Given the description of an element on the screen output the (x, y) to click on. 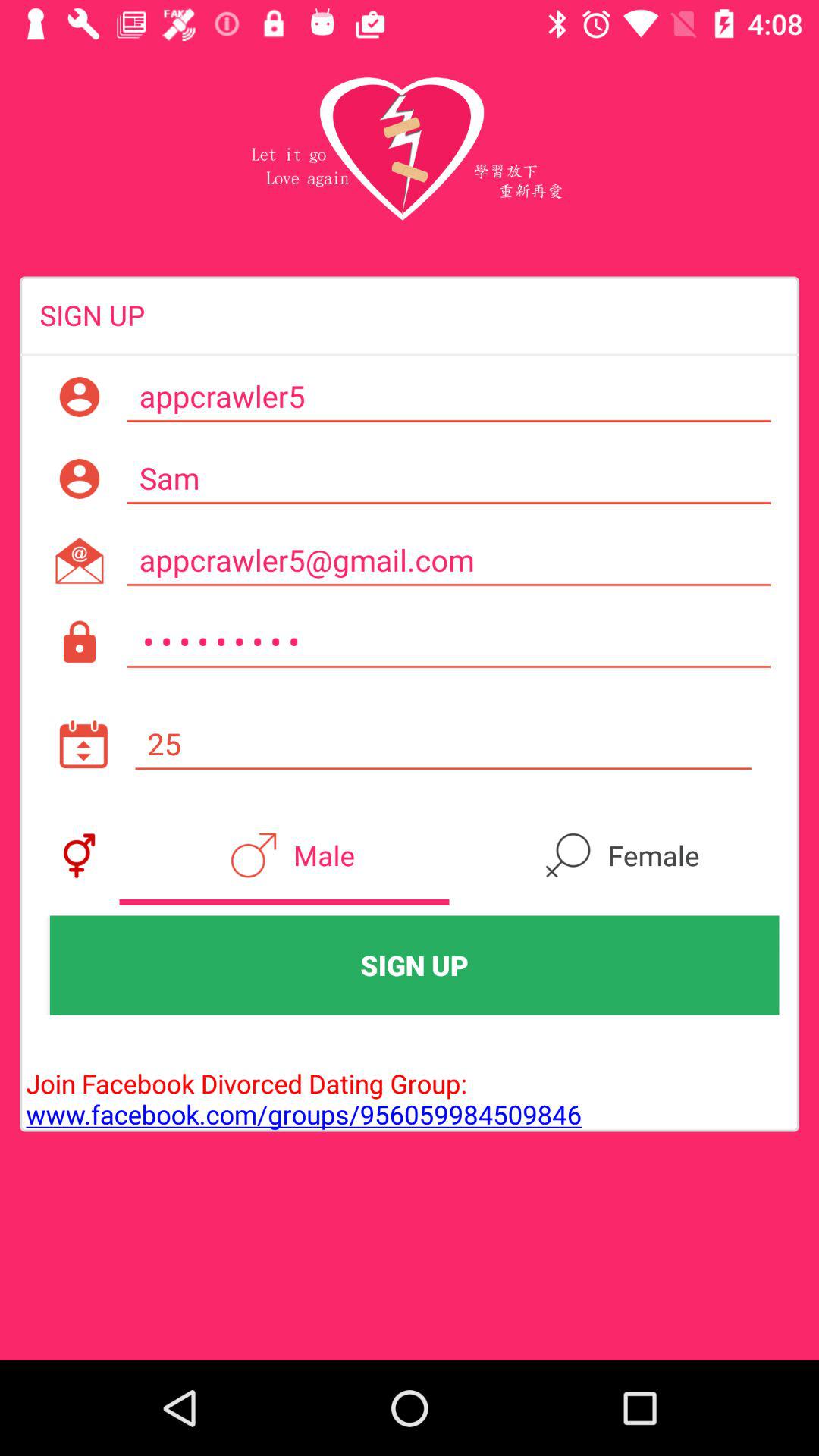
click the icon above 25 icon (449, 642)
